Given the description of an element on the screen output the (x, y) to click on. 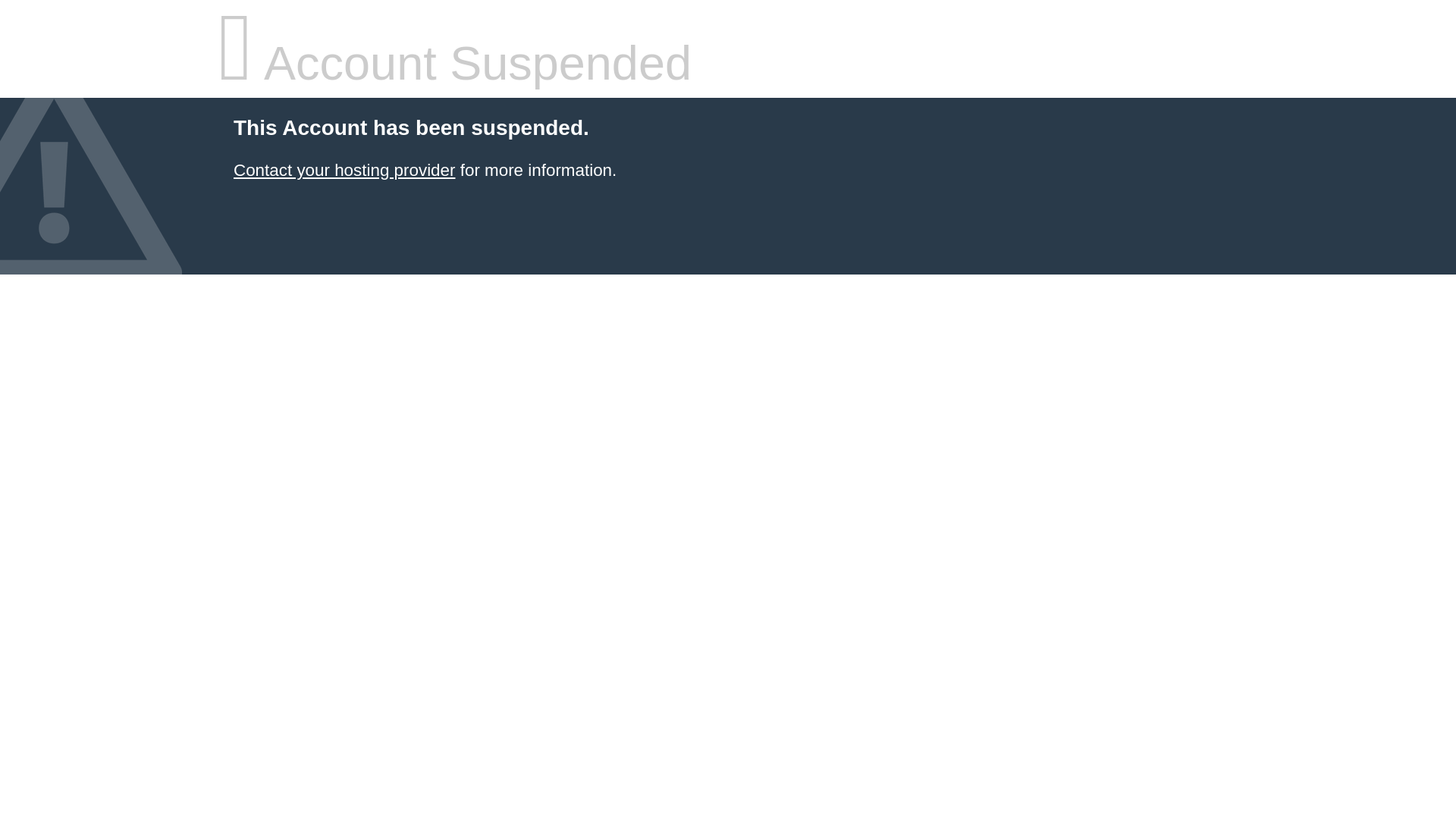
Contact your hosting provider (343, 169)
